Given the description of an element on the screen output the (x, y) to click on. 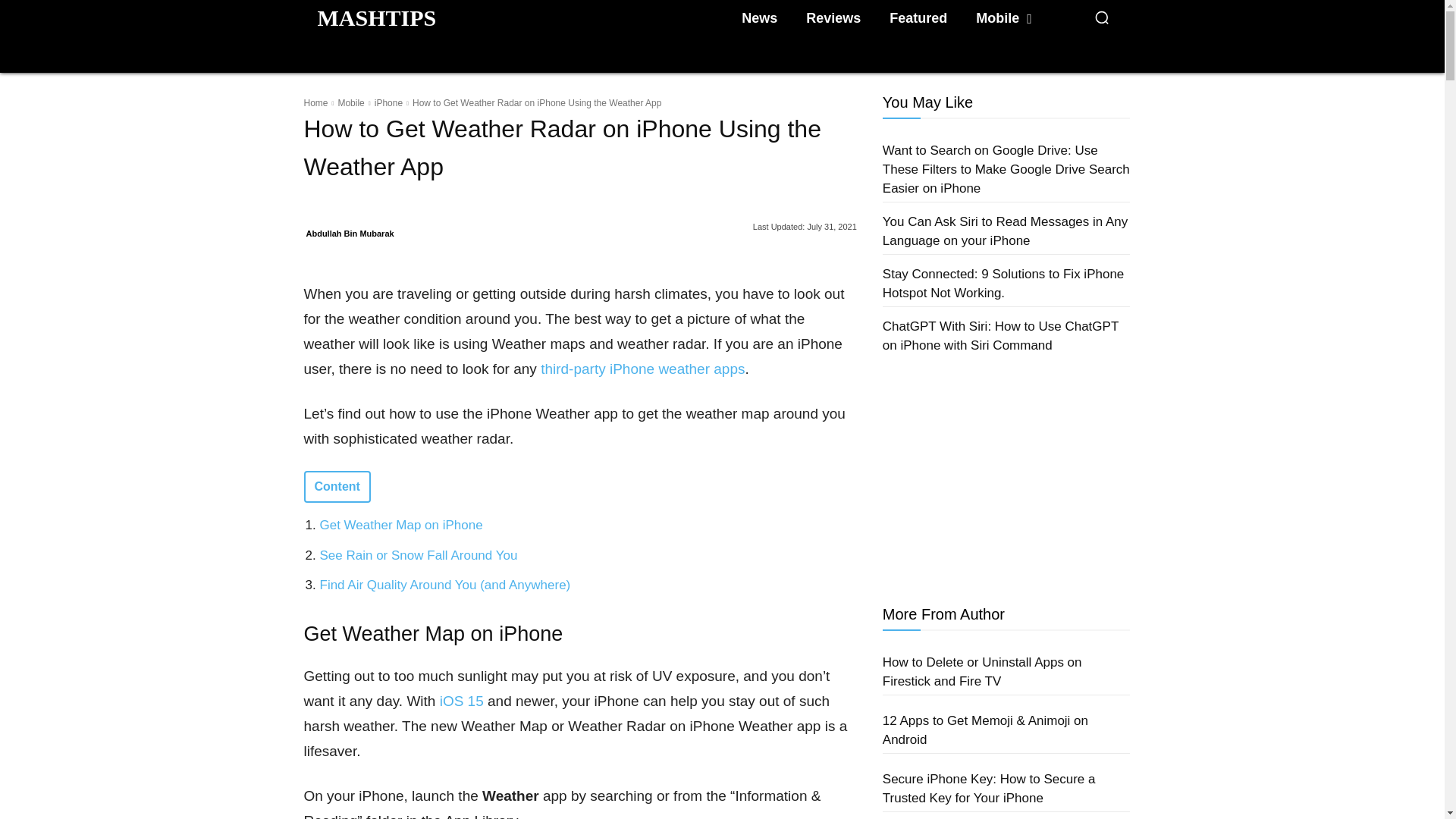
Featured (918, 18)
third-party iPhone weather apps (642, 368)
View all posts in Mobile (350, 102)
Home (314, 102)
News (758, 18)
Mobile (1003, 18)
MASHTIPS (376, 17)
Mobile (350, 102)
View all posts in iPhone (388, 102)
Get Weather Map on iPhone (401, 524)
MASHTIPS (376, 17)
iOS 15 (461, 700)
Reviews (832, 18)
Abdullah Bin Mubarak (349, 232)
iPhone (388, 102)
